Given the description of an element on the screen output the (x, y) to click on. 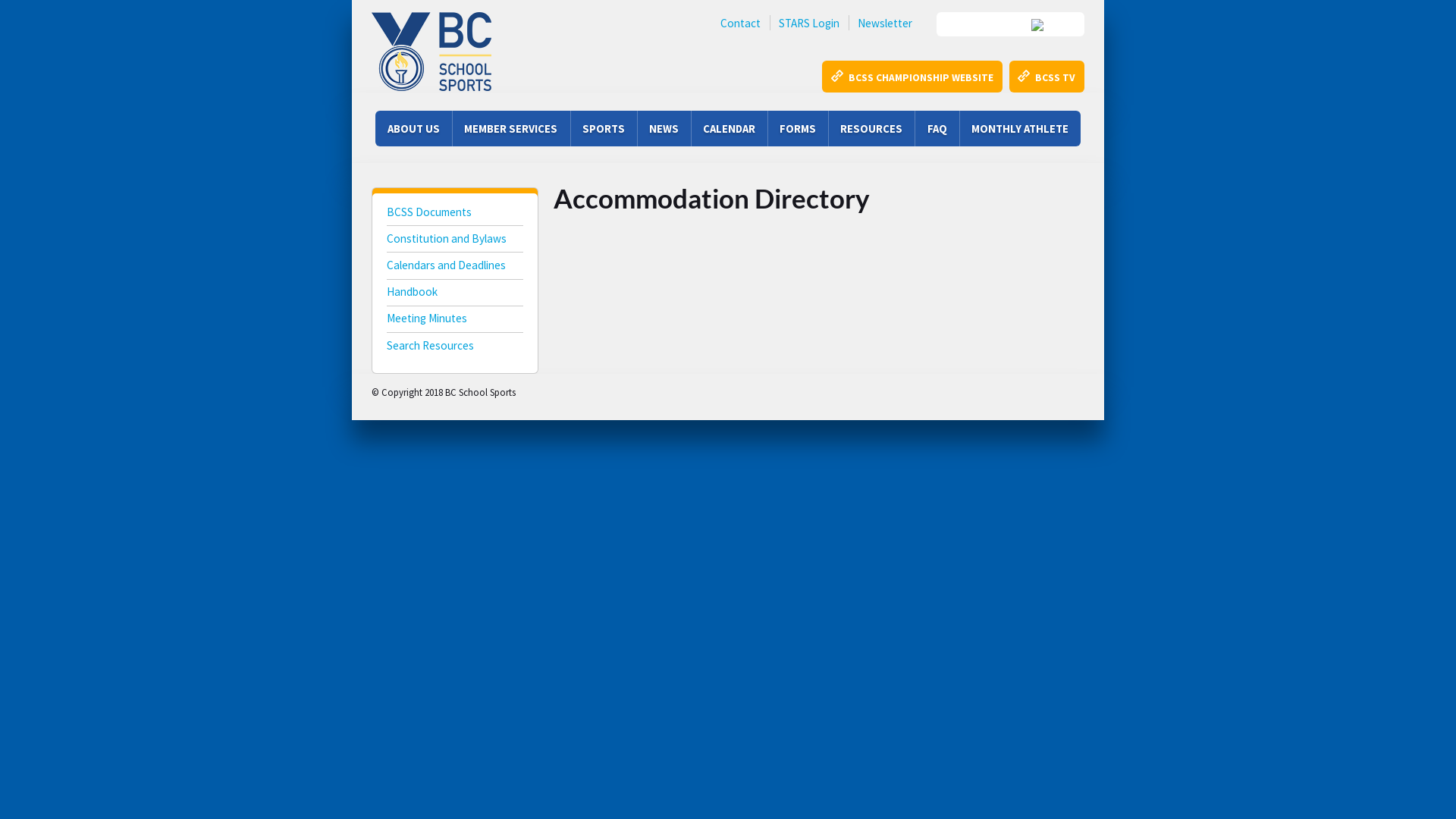
MEMBER SERVICES Element type: text (510, 128)
BCSS TV Element type: text (1046, 76)
Constitution and Bylaws Element type: text (454, 240)
Calendars and Deadlines Element type: text (454, 267)
FORMS Element type: text (797, 128)
Subscribe on YouTube Element type: text (624, 389)
RESOURCES Element type: text (871, 128)
MONTHLY ATHLETE Element type: text (1019, 128)
CALENDAR Element type: text (728, 128)
NEWS Element type: text (663, 128)
BCSS CHAMPIONSHIP WEBSITE Element type: text (911, 76)
Like Us on Facebook Element type: text (553, 389)
Follow Us on Twitter Element type: text (589, 389)
Skip to main content Element type: text (54, 0)
SPORTS Element type: text (603, 128)
FAQ Element type: text (936, 128)
Search Resources Element type: text (454, 346)
Handbook Element type: text (454, 293)
ABOUT US Element type: text (413, 128)
Meeting Minutes Element type: text (454, 320)
Newsletter Element type: text (884, 22)
STARS Login Element type: text (808, 22)
Enter the terms you wish to search for. Element type: hover (1010, 24)
Contact Element type: text (740, 22)
BCSS Documents Element type: text (454, 213)
